Given the description of an element on the screen output the (x, y) to click on. 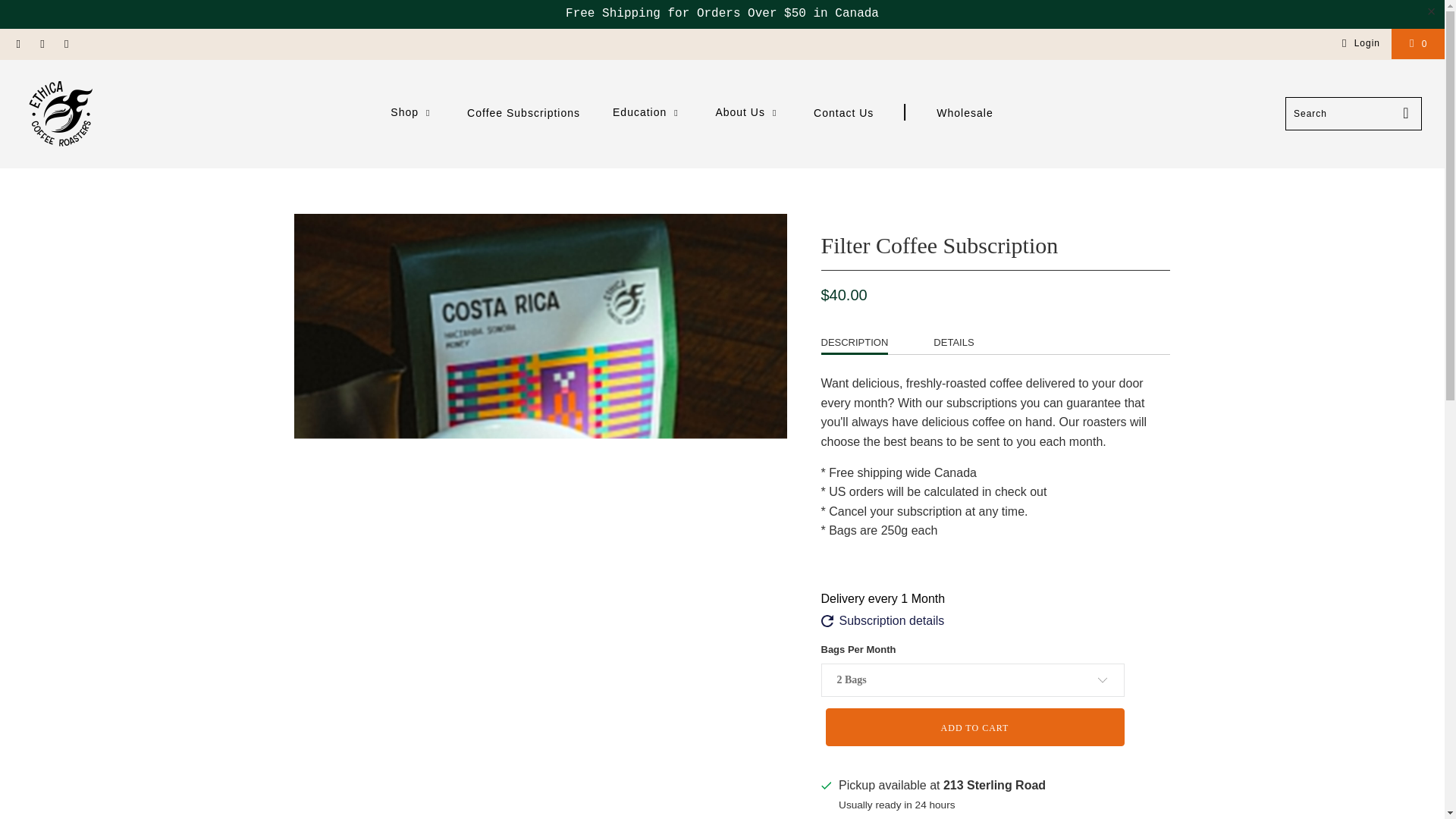
Ethica Coffee Roasters on Facebook (17, 44)
Ethica Coffee Roasters on Instagram (65, 44)
Ethica Coffee Roasters (61, 114)
My Account  (1358, 44)
Ethica Coffee Roasters on YouTube (41, 44)
